Given the description of an element on the screen output the (x, y) to click on. 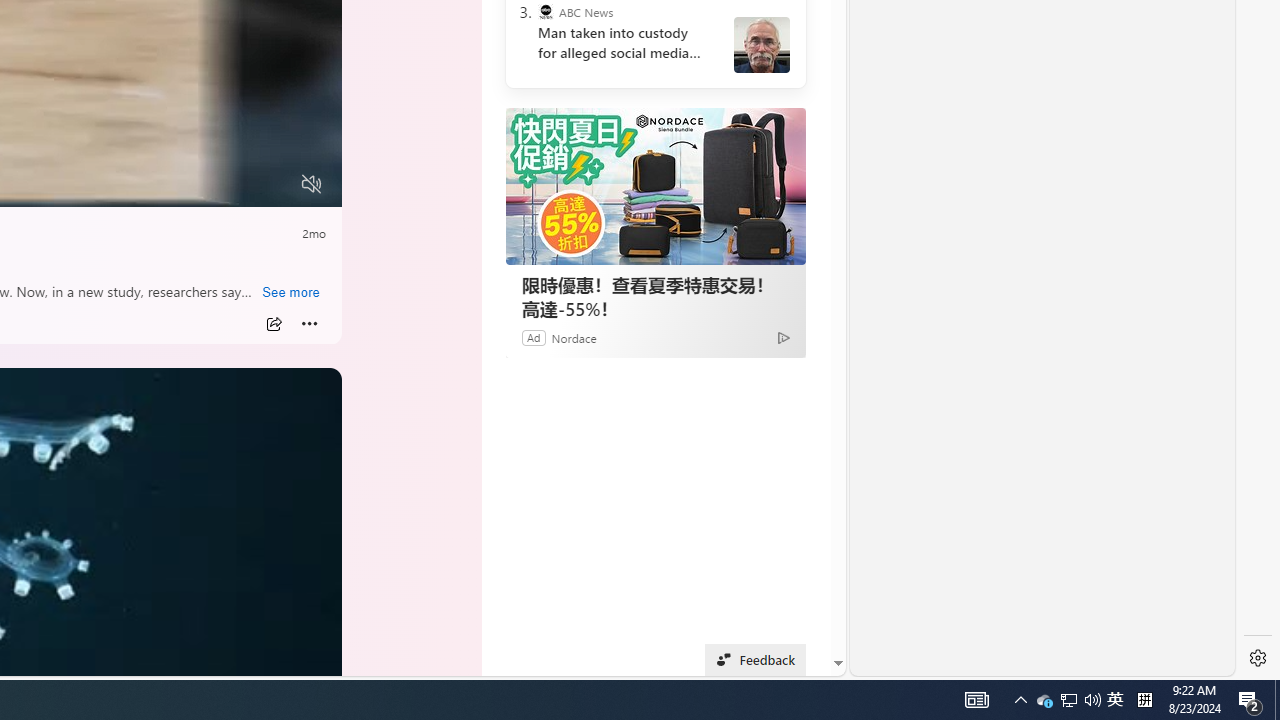
Fullscreen (273, 185)
More (310, 324)
Share (274, 324)
